Given the description of an element on the screen output the (x, y) to click on. 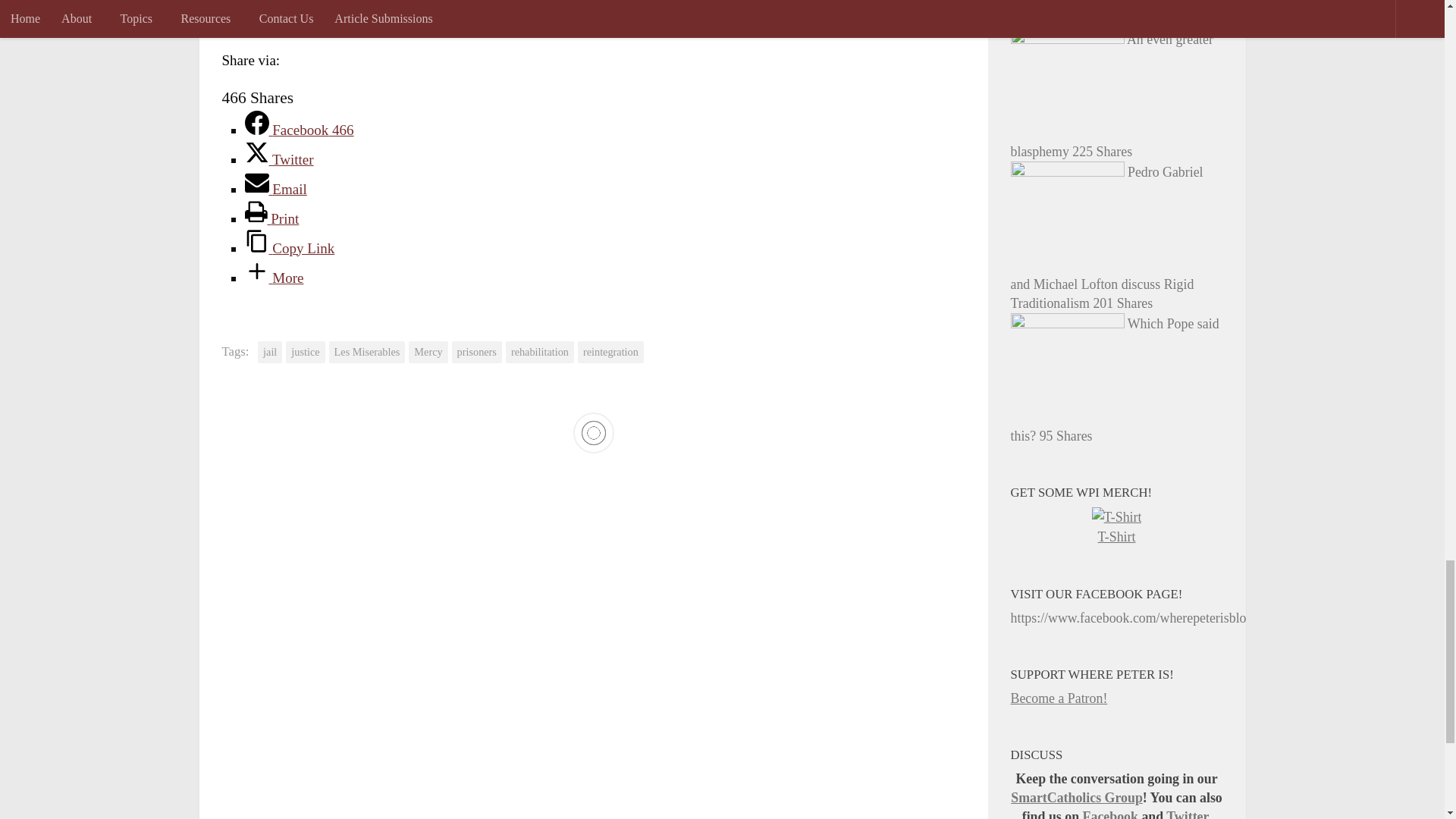
Click to share on Pinterest (384, 12)
Click to share on Mastodon (506, 12)
Click to print (324, 12)
Click to share on WhatsApp (475, 12)
Click to share on Facebook (263, 12)
Click to share on Twitter (233, 12)
Click to email a link to a friend (293, 12)
Click to share on Reddit (354, 12)
Click to share on Pocket (415, 12)
Click to share on LinkedIn (445, 12)
